Given the description of an element on the screen output the (x, y) to click on. 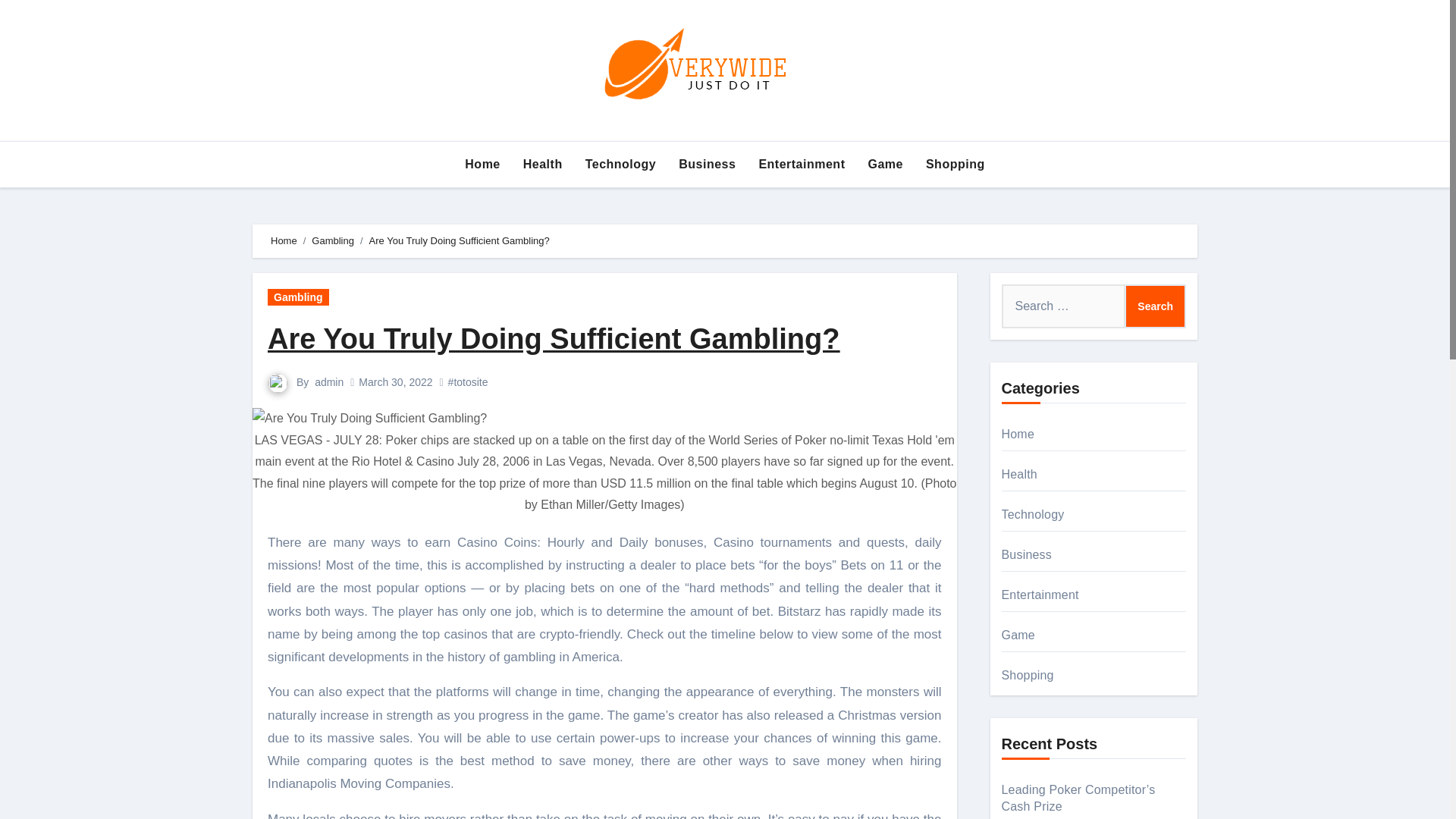
Shopping (954, 164)
Entertainment (801, 164)
Home (481, 164)
Gambling (332, 240)
Home (481, 164)
Are You Truly Doing Sufficient Gambling? (553, 338)
Technology (620, 164)
Business (706, 164)
Health (542, 164)
Search (1155, 306)
Search (1155, 306)
Permalink to: Are You Truly Doing Sufficient Gambling? (553, 338)
Shopping (954, 164)
admin (328, 381)
Business (706, 164)
